Given the description of an element on the screen output the (x, y) to click on. 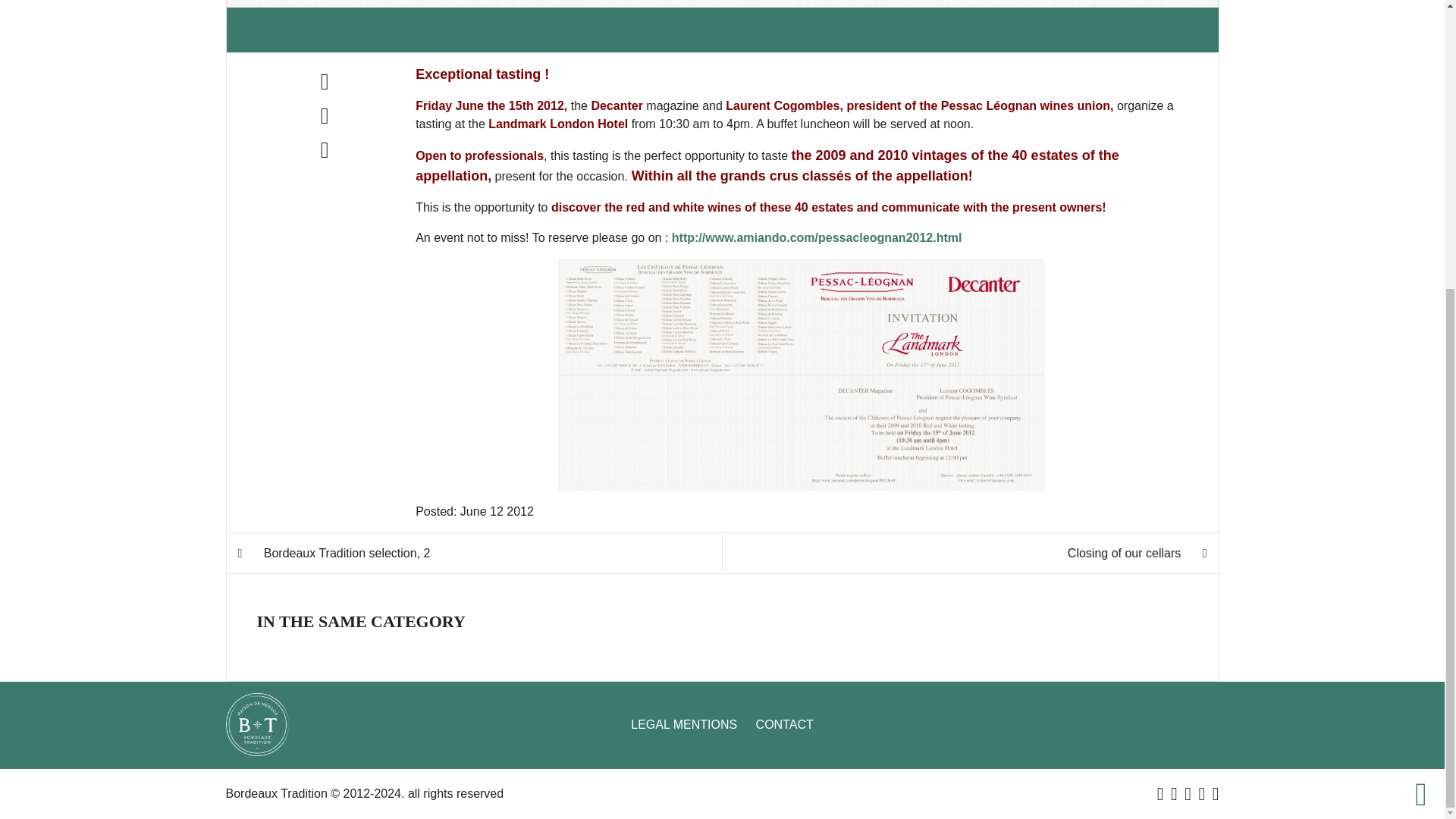
 Bordeaux Tradition selection, 2 (474, 552)
LEGAL MENTIONS (683, 725)
Invitation Tasting Pessac-Leognan (801, 374)
BACK TO TOP (970, 552)
CONTACT (1421, 355)
